Given the description of an element on the screen output the (x, y) to click on. 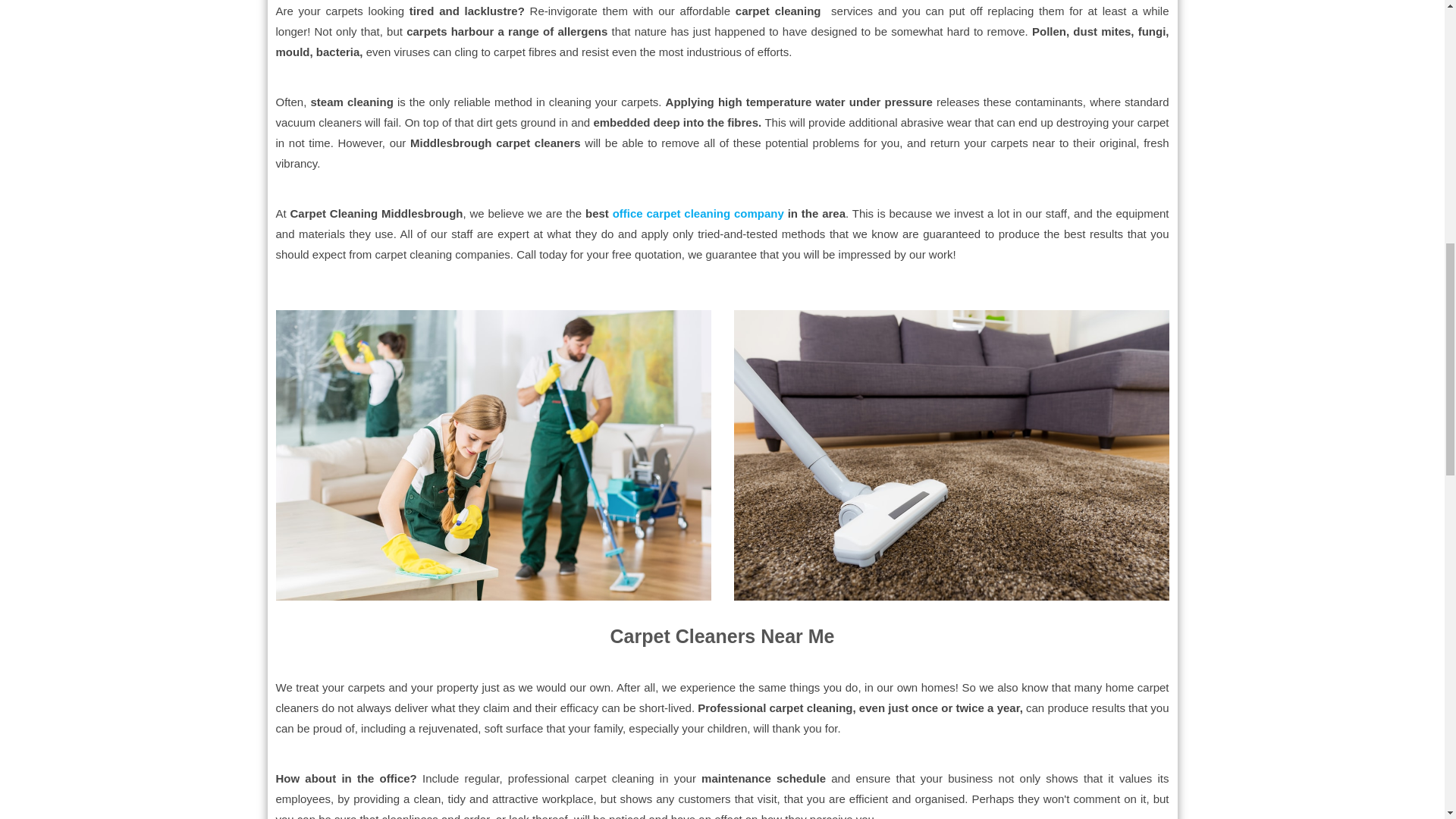
House Cleaning Middlesbrough (493, 455)
office carpet cleaning company (698, 213)
